Given the description of an element on the screen output the (x, y) to click on. 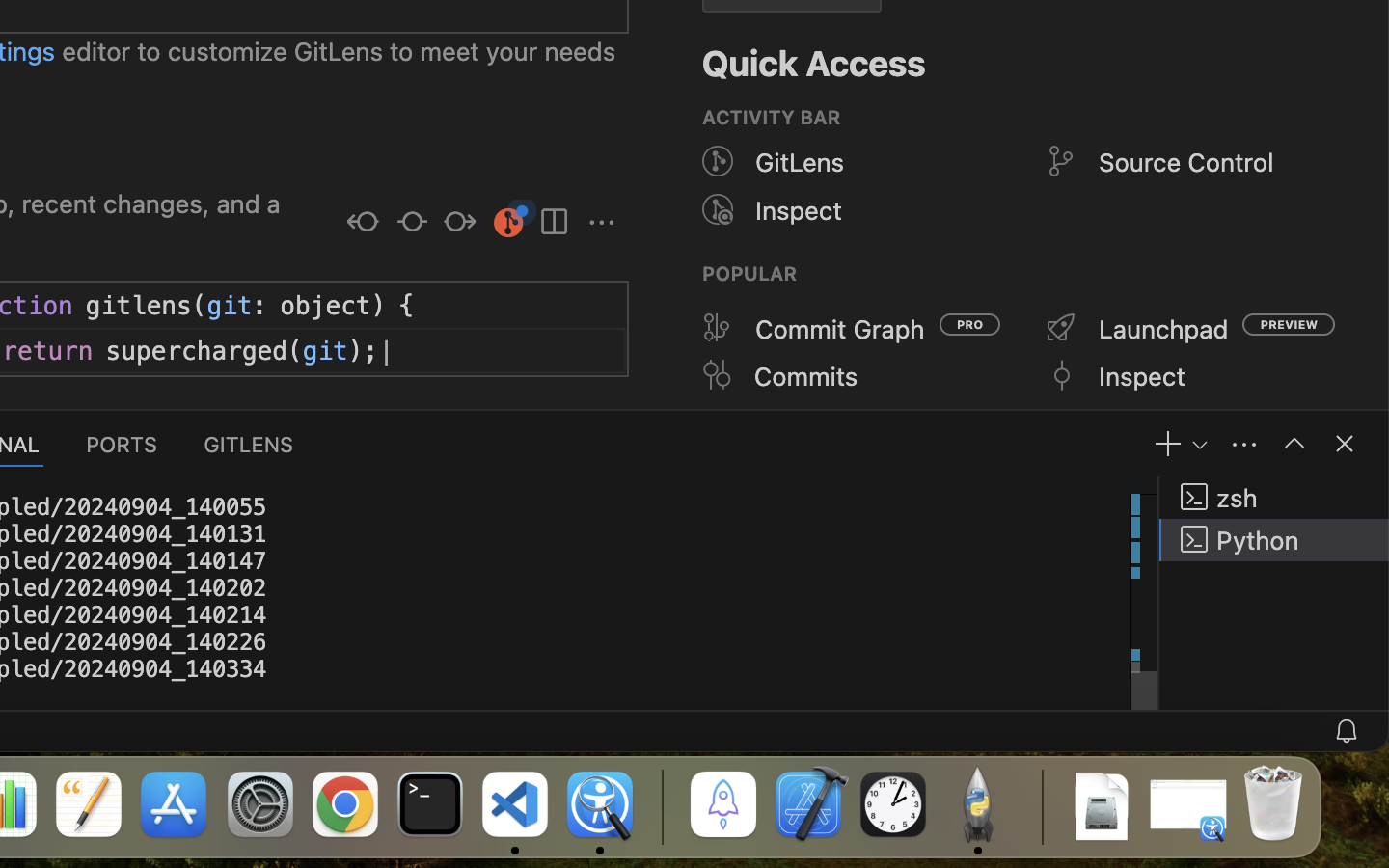
 Element type: AXStaticText (717, 161)
 Element type: AXStaticText (601, 223)
 Element type: AXStaticText (1060, 327)
gitlens Element type: AXStaticText (138, 305)
git Element type: AXStaticText (229, 305)
